Given the description of an element on the screen output the (x, y) to click on. 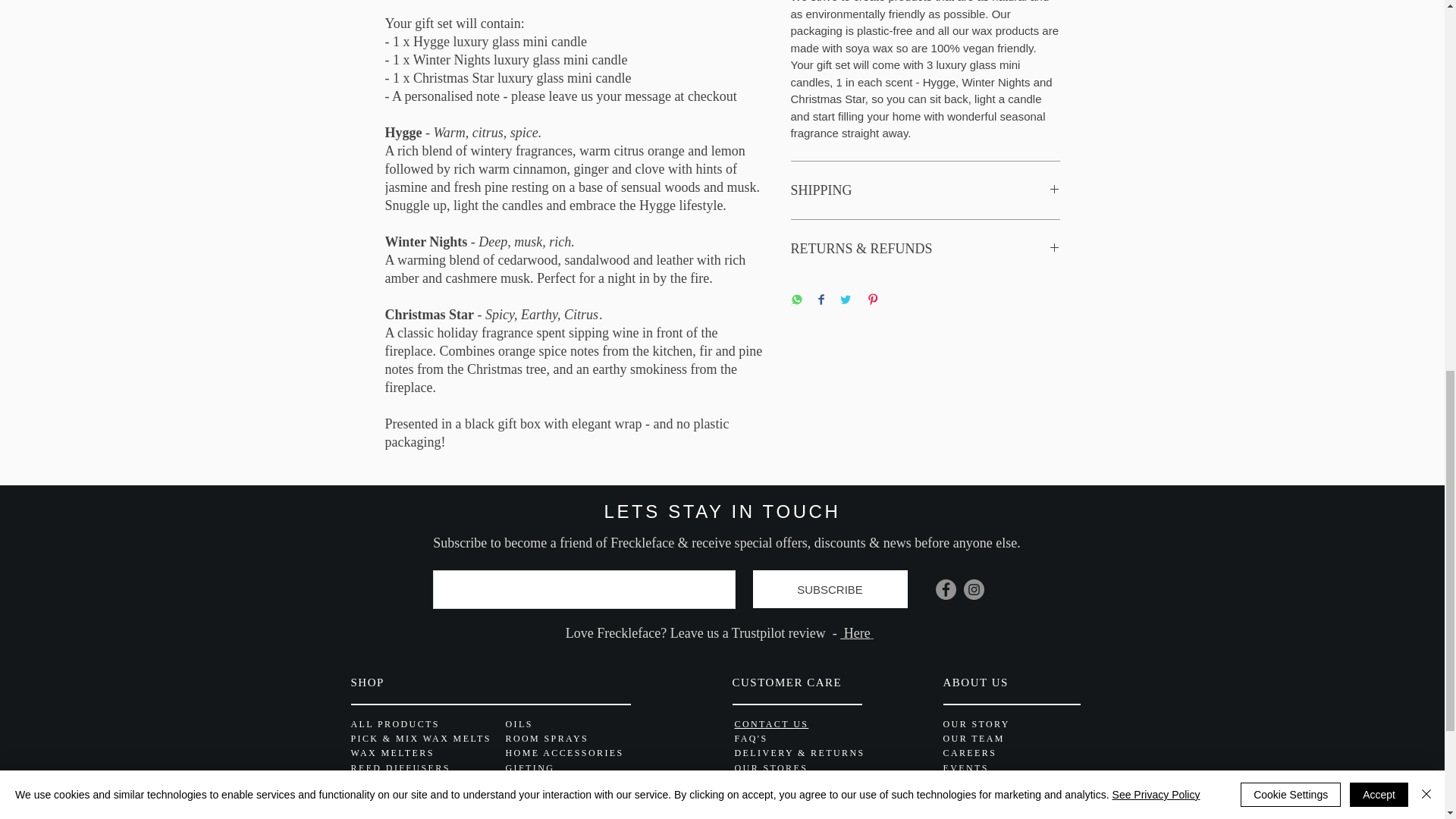
SHIPPING (924, 190)
